Given the description of an element on the screen output the (x, y) to click on. 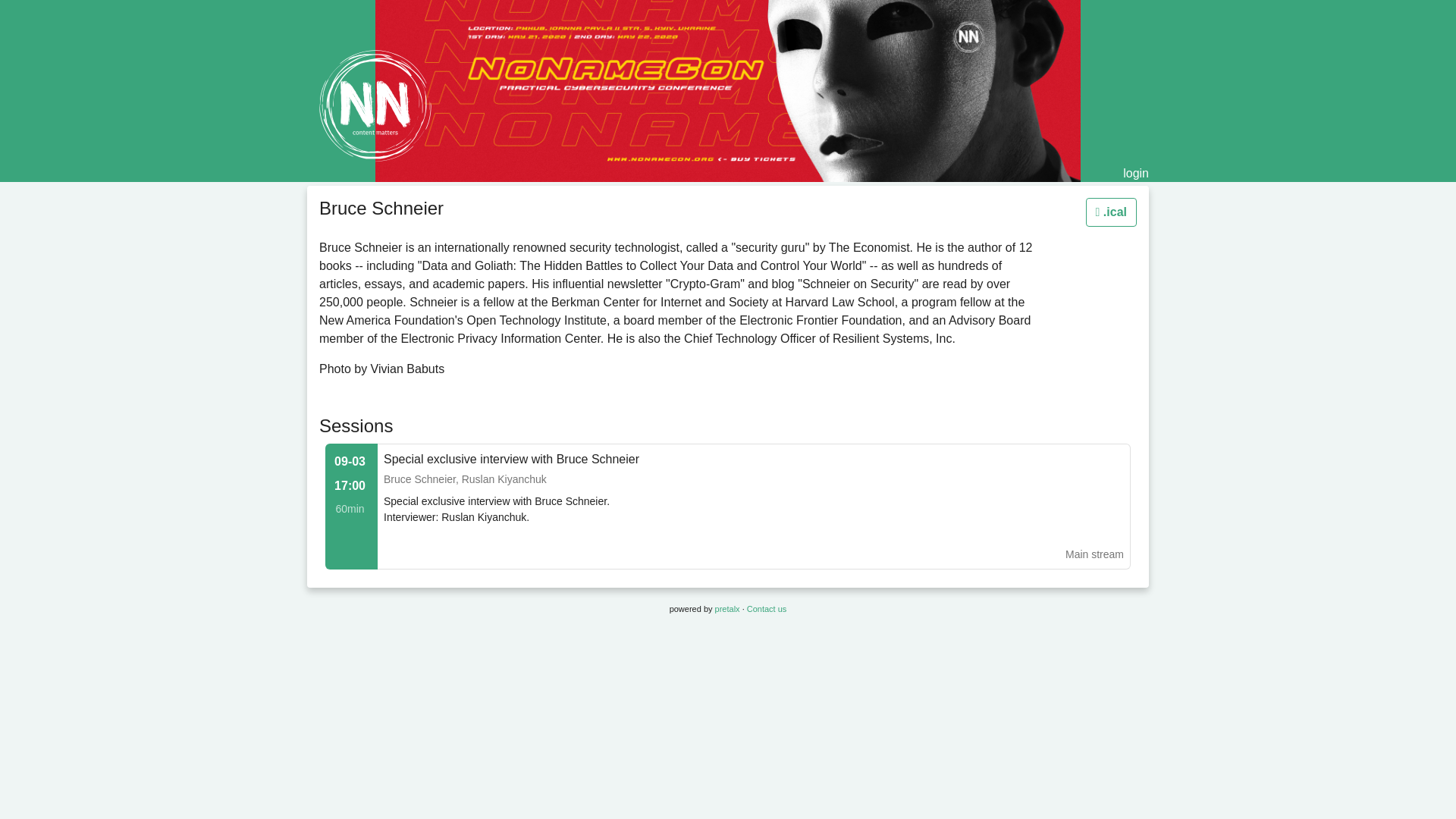
Contact us (766, 608)
login (1135, 173)
.ical (1111, 212)
pretalx (726, 608)
